Given the description of an element on the screen output the (x, y) to click on. 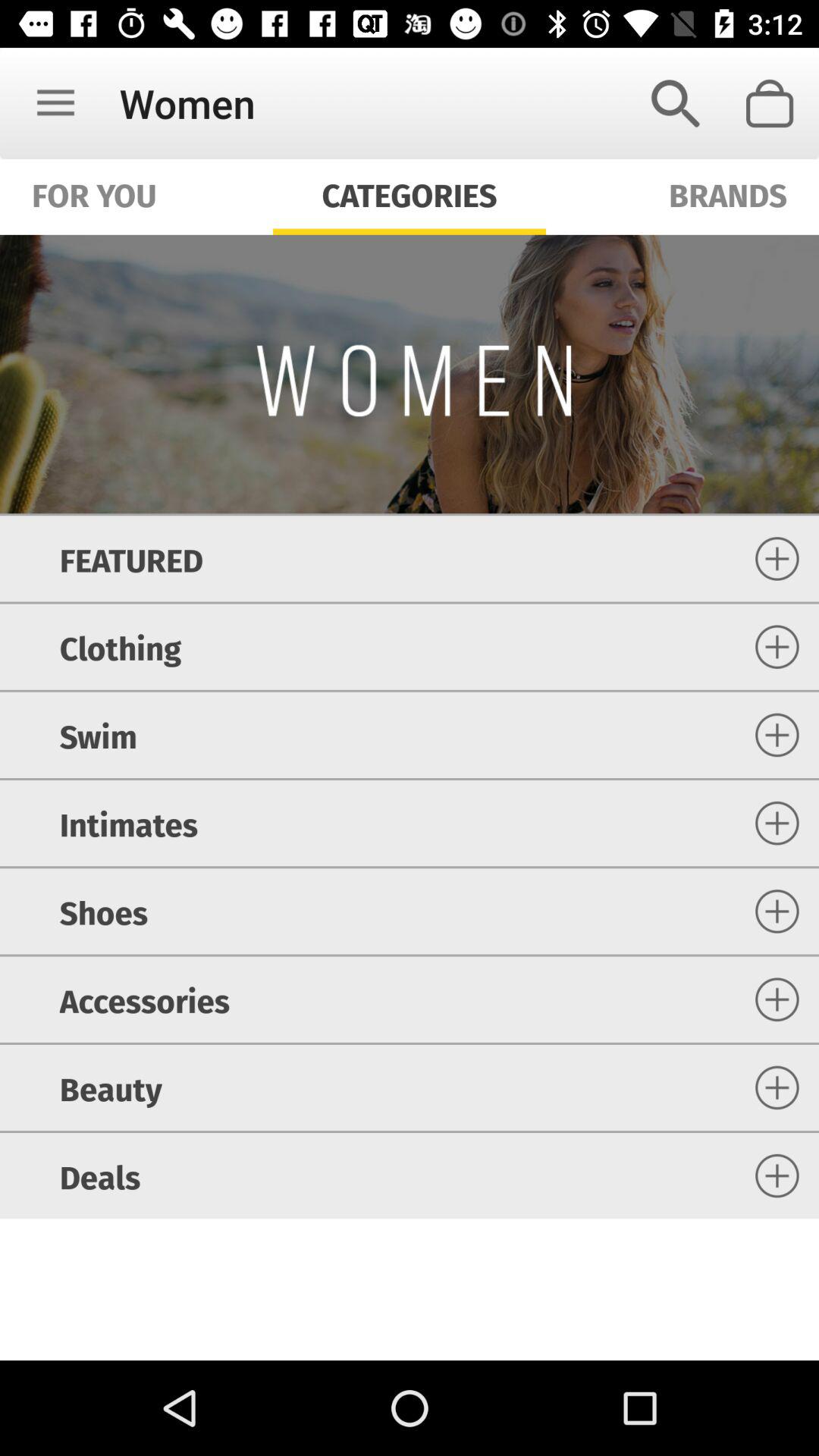
open icon next to women (55, 103)
